Given the description of an element on the screen output the (x, y) to click on. 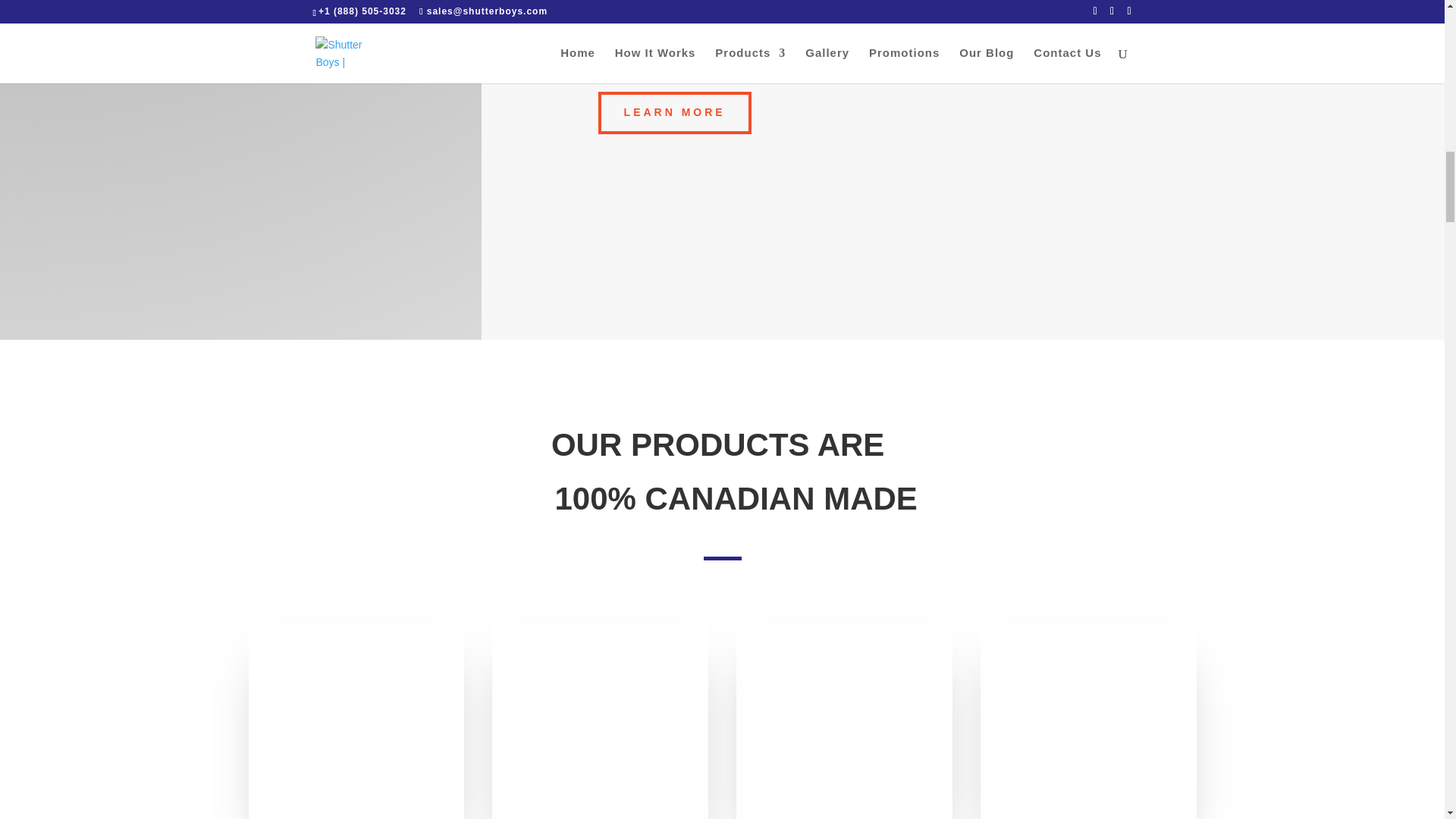
LEARN MORE (674, 112)
Plantation Shutters Toronto (599, 721)
Interior Bay Window Shutters (1087, 721)
California Shutters Toronto (356, 721)
Patio Door Plantation Shutters (844, 721)
